Given the description of an element on the screen output the (x, y) to click on. 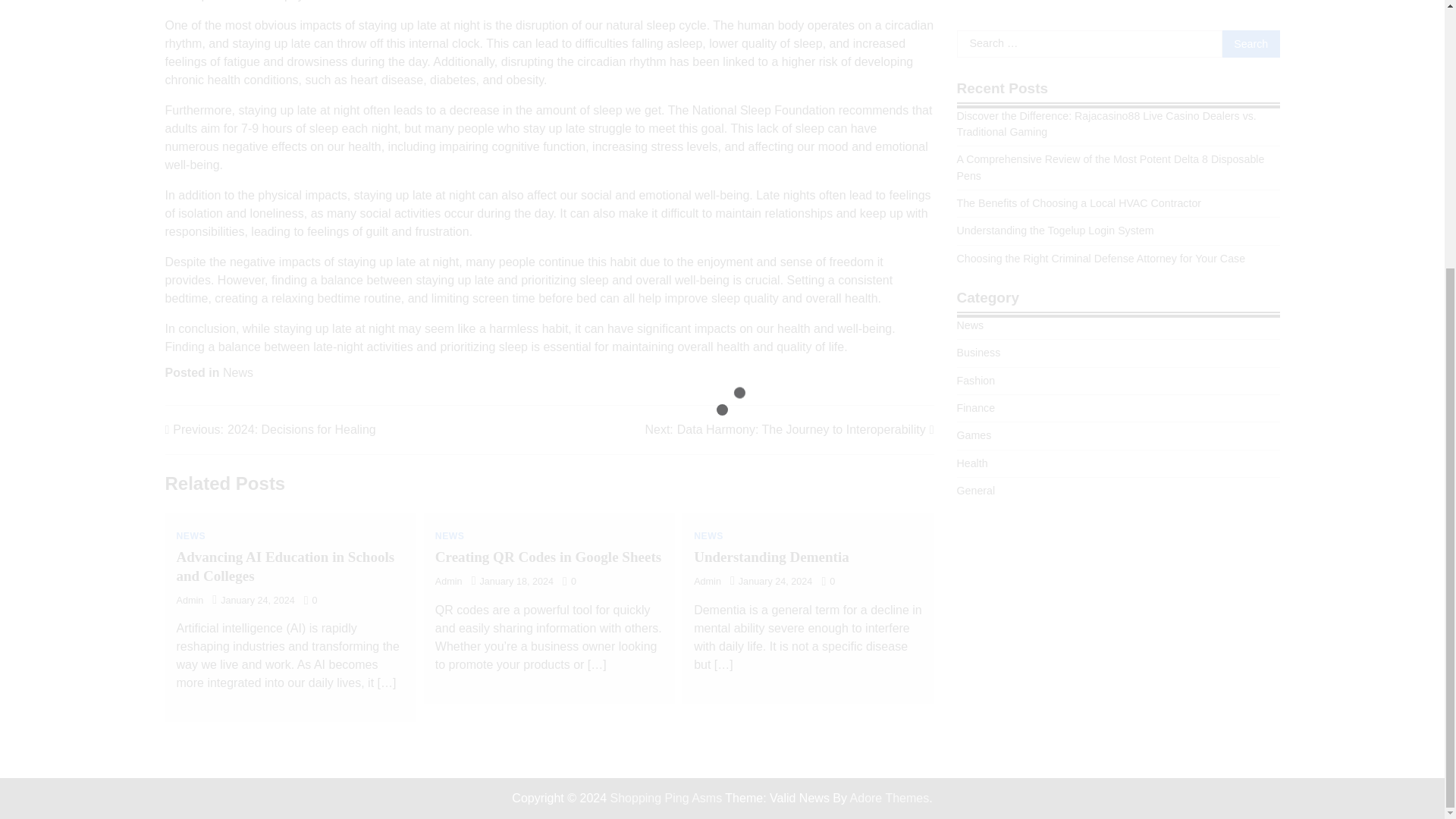
Creating QR Codes in Google Sheets (548, 556)
News (970, 82)
Admin (707, 581)
NEWS (190, 535)
News (237, 372)
NEWS (708, 535)
Business (978, 110)
Understanding Dementia (771, 556)
Finance (975, 164)
Advancing AI Education in Schools and Colleges (285, 565)
Fashion (975, 137)
Choosing the Right Criminal Defense Attorney for Your Case (1101, 15)
Health (972, 220)
Admin (449, 581)
